Given the description of an element on the screen output the (x, y) to click on. 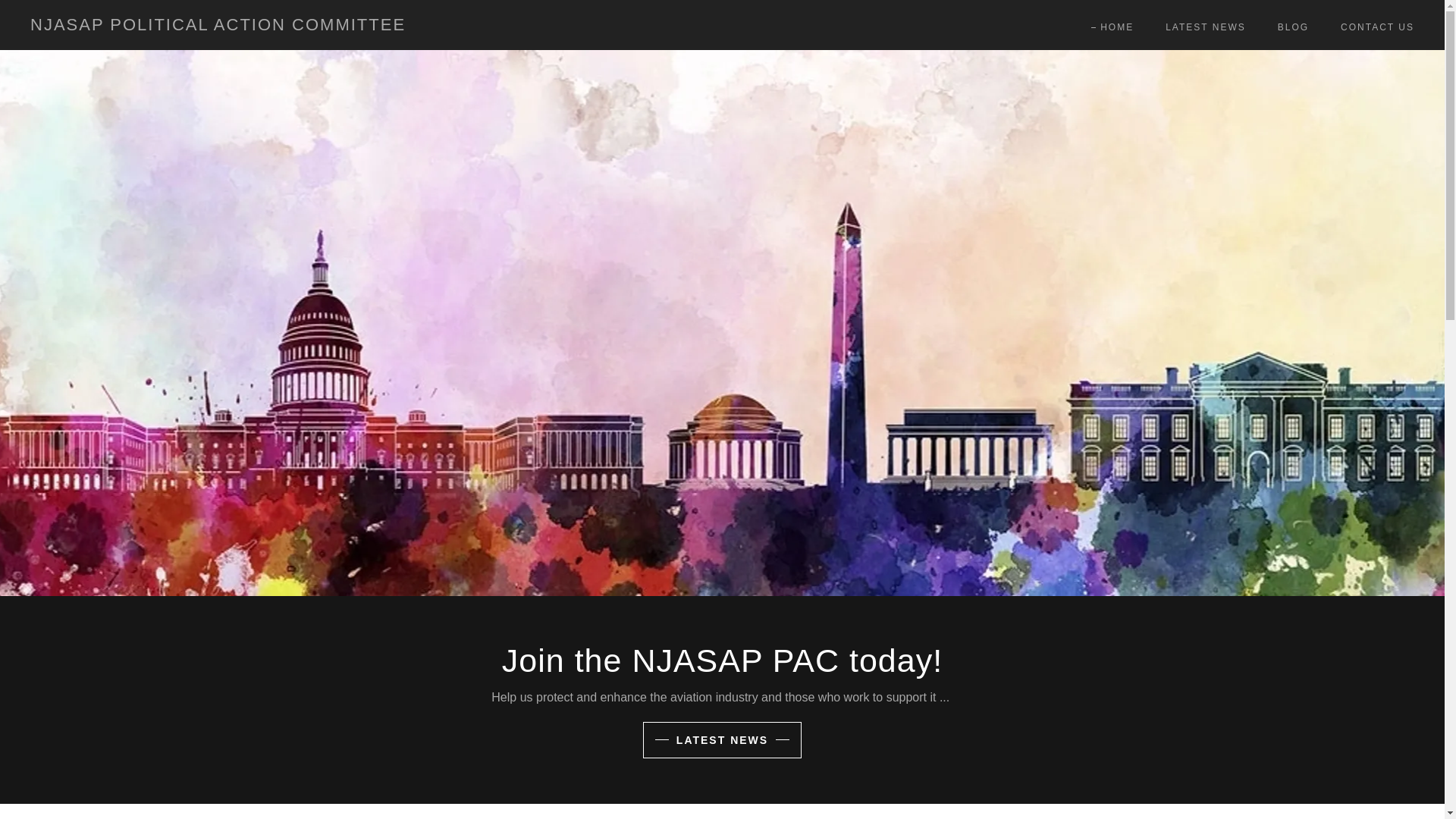
NJASAP POLITICAL ACTION COMMITTEE (296, 25)
HOME (1112, 27)
BLOG (1288, 26)
LATEST NEWS (1200, 26)
CONTACT US (1372, 26)
NJASAP Political Action Committee (296, 25)
LATEST NEWS (722, 739)
